Given the description of an element on the screen output the (x, y) to click on. 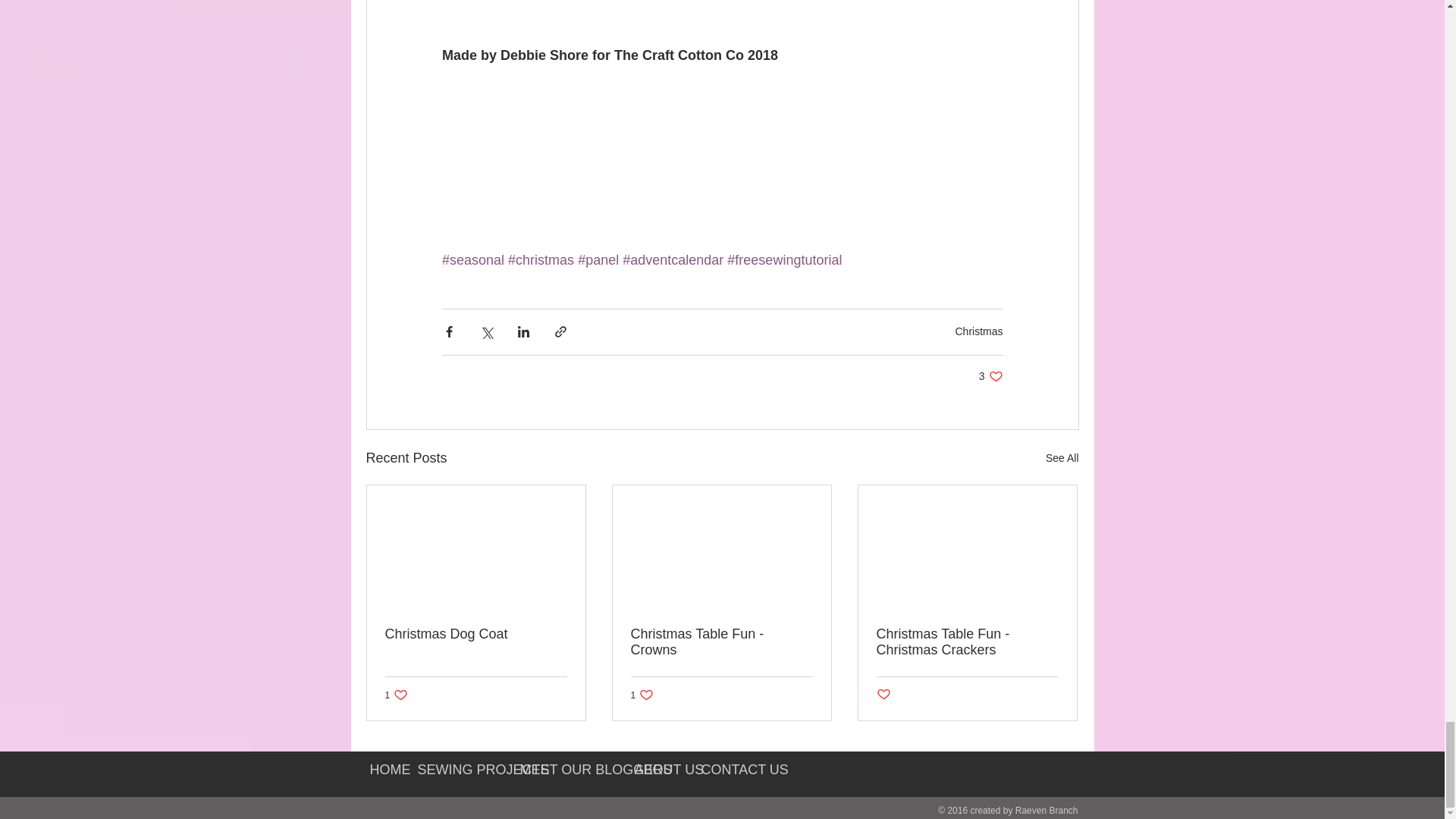
See All (397, 694)
Christmas Dog Coat (1061, 458)
Christmas Table Fun - Crowns (990, 376)
Christmas (476, 634)
